Given the description of an element on the screen output the (x, y) to click on. 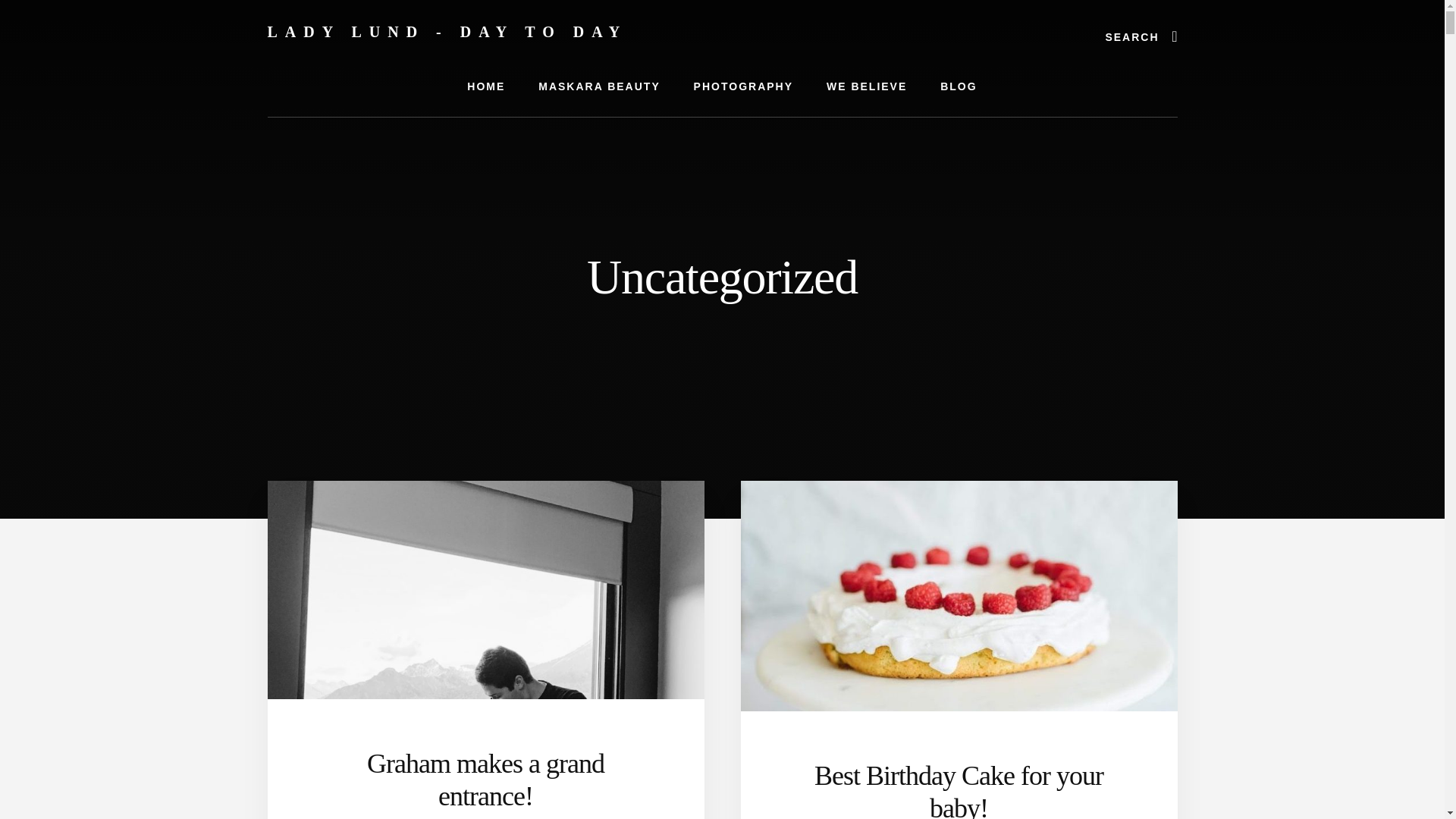
LADY LUND - DAY TO DAY (446, 31)
MASKARA BEAUTY (598, 86)
BLOG (957, 86)
Graham makes a grand entrance! (485, 779)
HOME (485, 86)
PHOTOGRAPHY (743, 86)
Best Birthday Cake for your baby! (958, 789)
WE BELIEVE (865, 86)
